Given the description of an element on the screen output the (x, y) to click on. 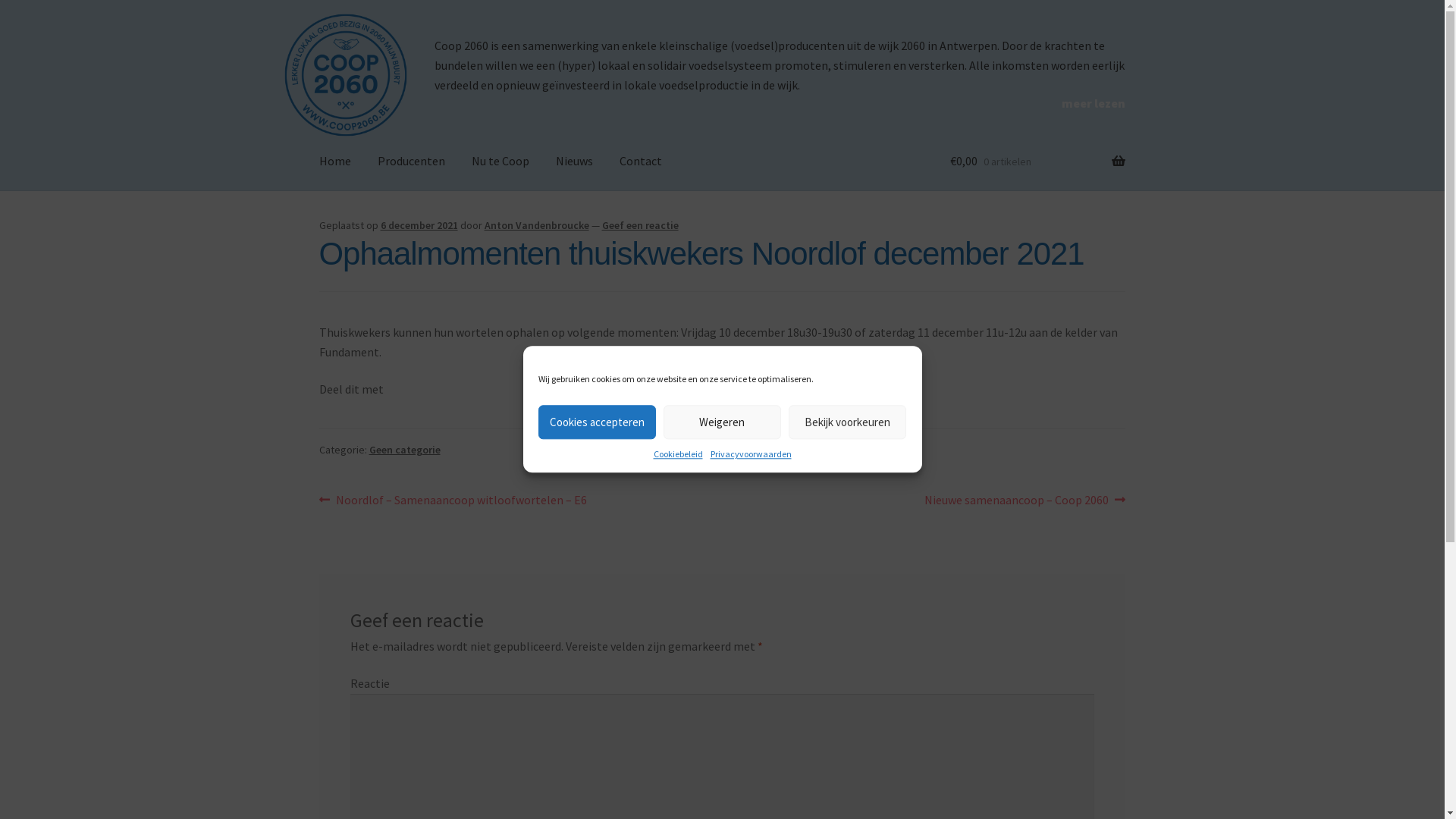
Anton Vandenbroucke Element type: text (536, 225)
Cookies accepteren Element type: text (596, 421)
Cookiebeleid Element type: text (677, 453)
6 december 2021 Element type: text (419, 225)
Weigeren Element type: text (722, 421)
Home Element type: text (335, 161)
Privacyvoorwaarden Element type: text (749, 453)
Contact Element type: text (640, 161)
Bekijk voorkeuren Element type: text (847, 421)
Geen categorie Element type: text (404, 449)
Geef een reactie Element type: text (640, 225)
Nu te Coop Element type: text (500, 161)
meer lezen Element type: text (1093, 103)
Nieuws Element type: text (574, 161)
Producenten Element type: text (411, 161)
